Given the description of an element on the screen output the (x, y) to click on. 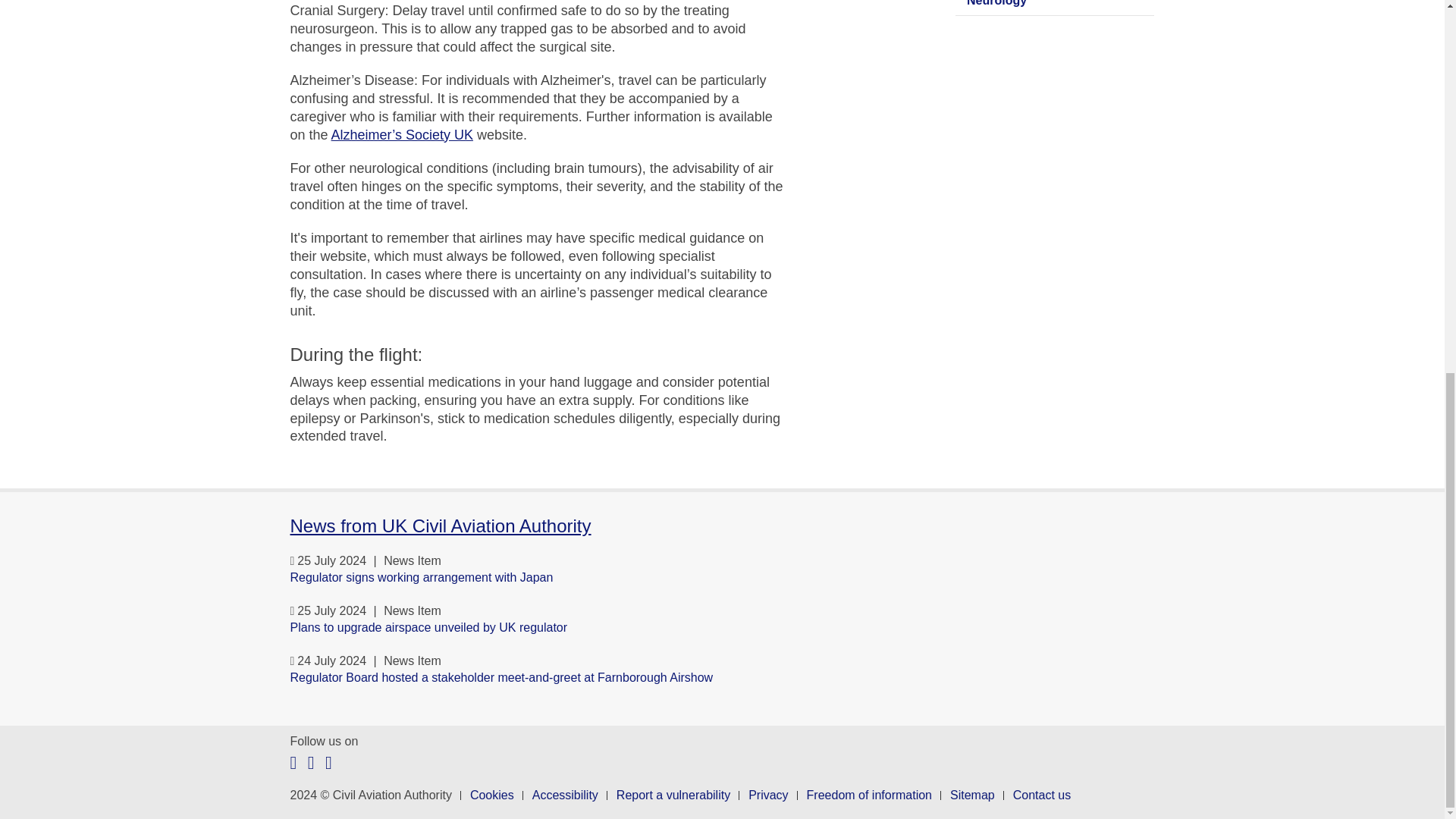
Follow us on Linkedin (327, 762)
Cookies (491, 794)
Regulator signs working arrangement with Japan (574, 577)
News from UK Civil Aviation Authority (440, 525)
Plans to upgrade airspace unveiled by UK regulator (574, 627)
Accessibility (565, 794)
Follow us on YouTube (310, 762)
Neurology (1054, 7)
Follow us on X (293, 762)
